Given the description of an element on the screen output the (x, y) to click on. 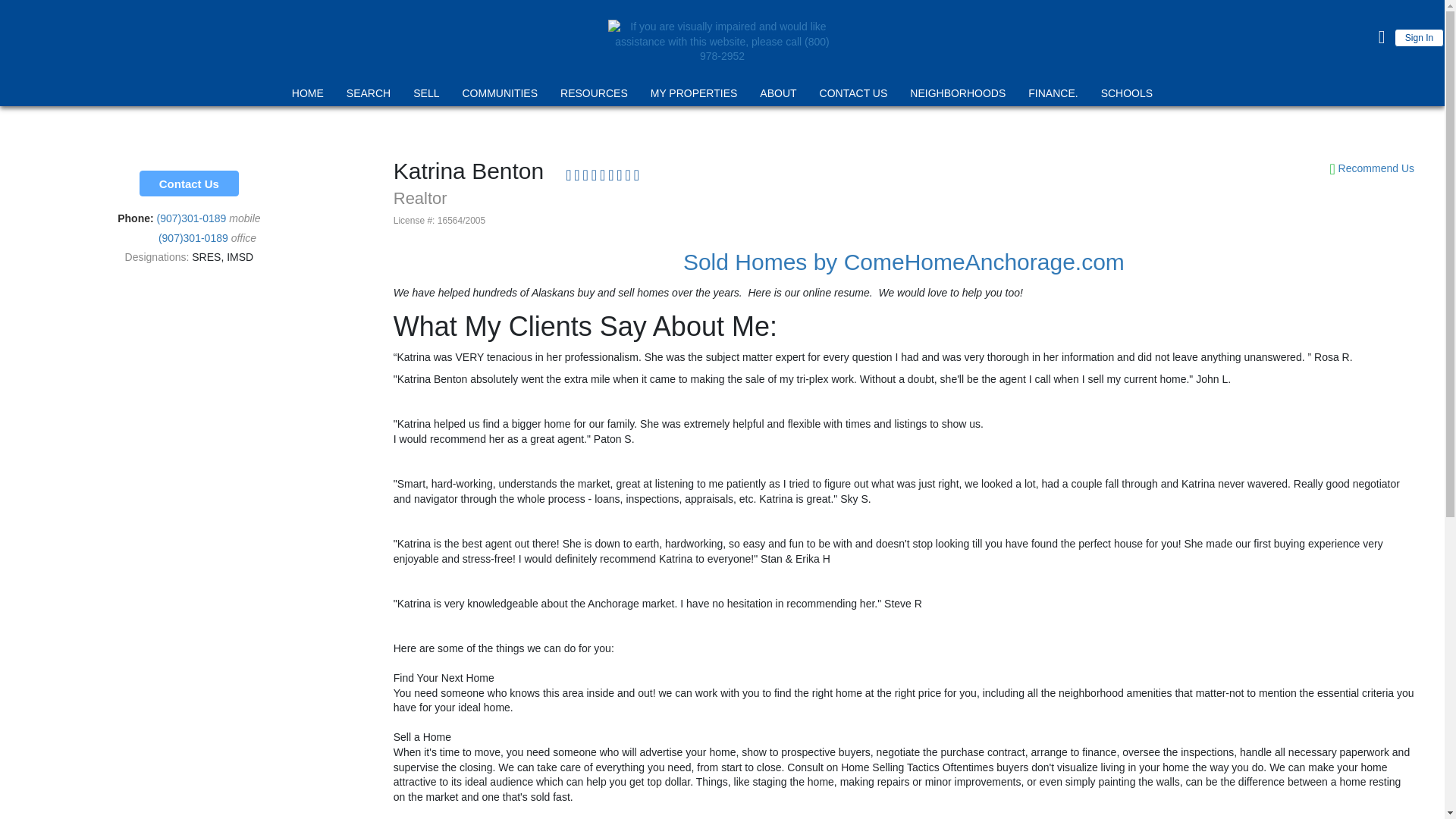
Recommend Us (1371, 168)
Contact Us (188, 183)
RESOURCES (593, 95)
SELL (425, 95)
Sign In (1419, 37)
Sold Homes by ComeHomeAnchorage.com (903, 261)
MY PROPERTIES (693, 95)
HOME (307, 95)
FINANCE. (1053, 95)
ABOUT (777, 95)
SCHOOLS (1126, 95)
NEIGHBORHOODS (957, 95)
CONTACT US (853, 95)
COMMUNITIES (499, 95)
SEARCH (368, 95)
